Given the description of an element on the screen output the (x, y) to click on. 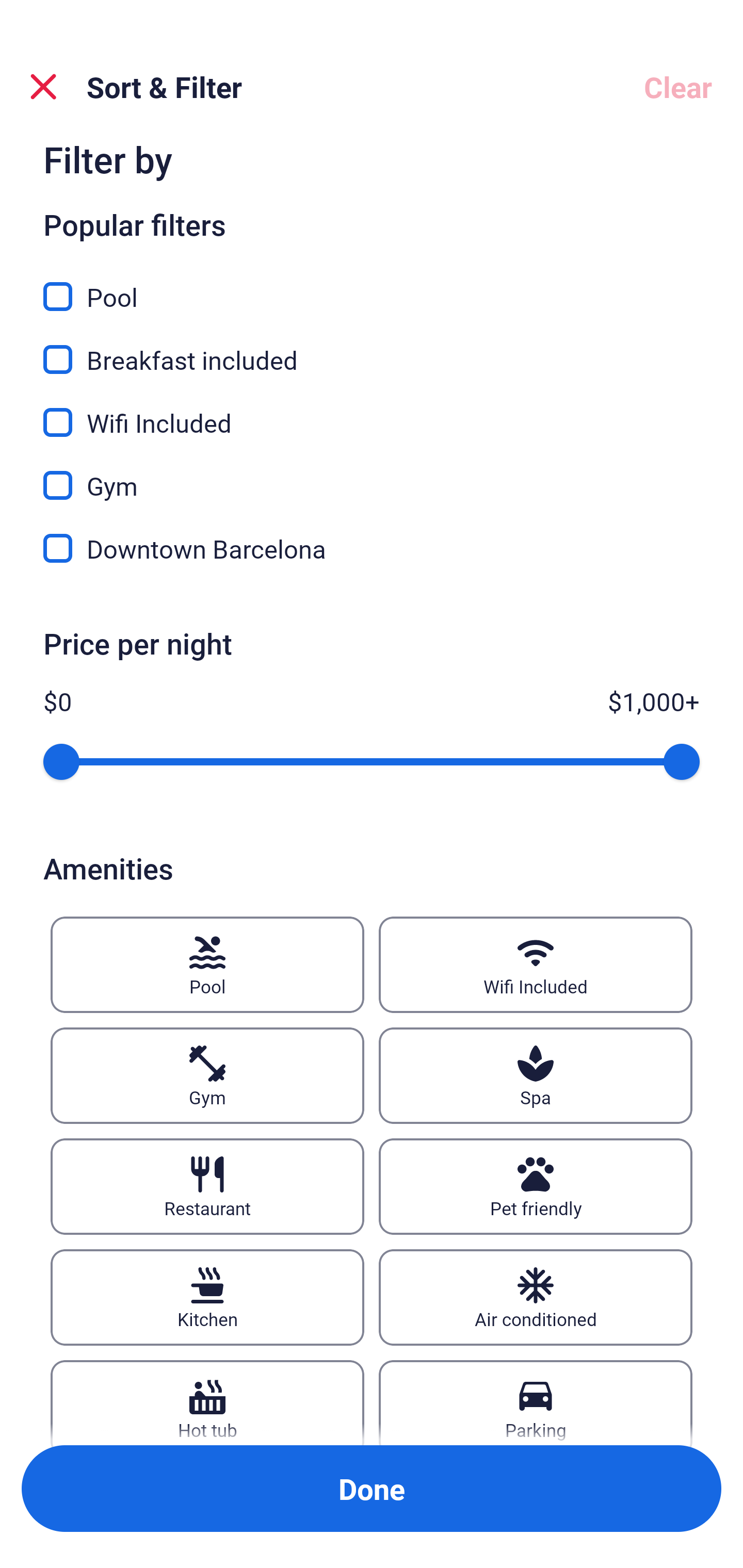
Close Sort and Filter (43, 86)
Clear (677, 86)
Pool, Pool (371, 285)
Breakfast included, Breakfast included (371, 347)
Wifi Included, Wifi Included (371, 410)
Gym, Gym (371, 473)
Downtown Barcelona, Downtown Barcelona (371, 548)
Pool (207, 964)
Wifi Included (535, 964)
Gym (207, 1075)
Spa (535, 1075)
Restaurant (207, 1186)
Pet friendly (535, 1186)
Kitchen (207, 1297)
Air conditioned (535, 1297)
Hot tub (207, 1402)
Parking (535, 1402)
Apply and close Sort and Filter Done (371, 1488)
